Given the description of an element on the screen output the (x, y) to click on. 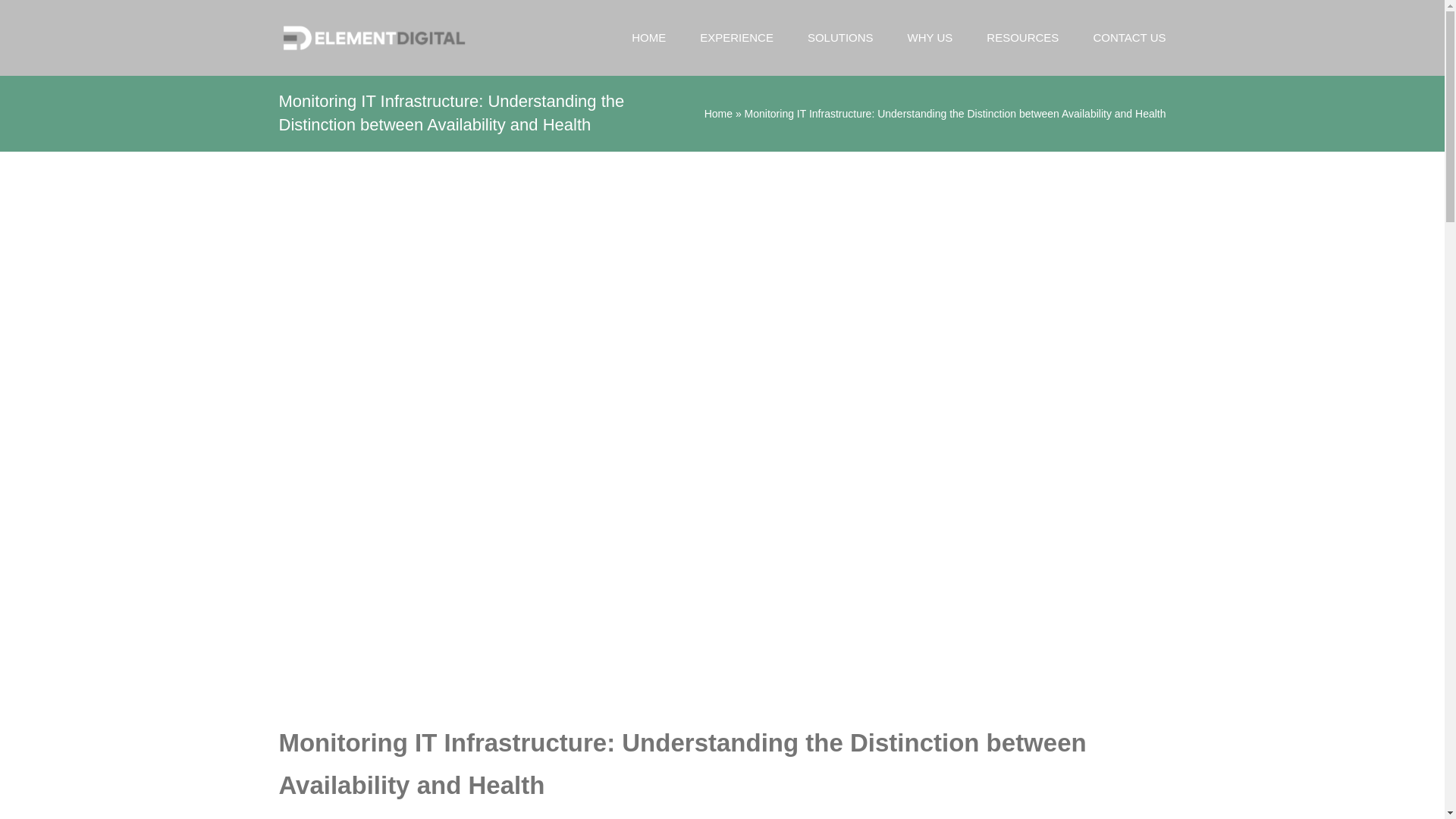
Home (718, 113)
RESOURCES (1022, 37)
EXPERIENCE (736, 37)
SOLUTIONS (840, 37)
CONTACT US (1129, 37)
WHY US (930, 37)
